Given the description of an element on the screen output the (x, y) to click on. 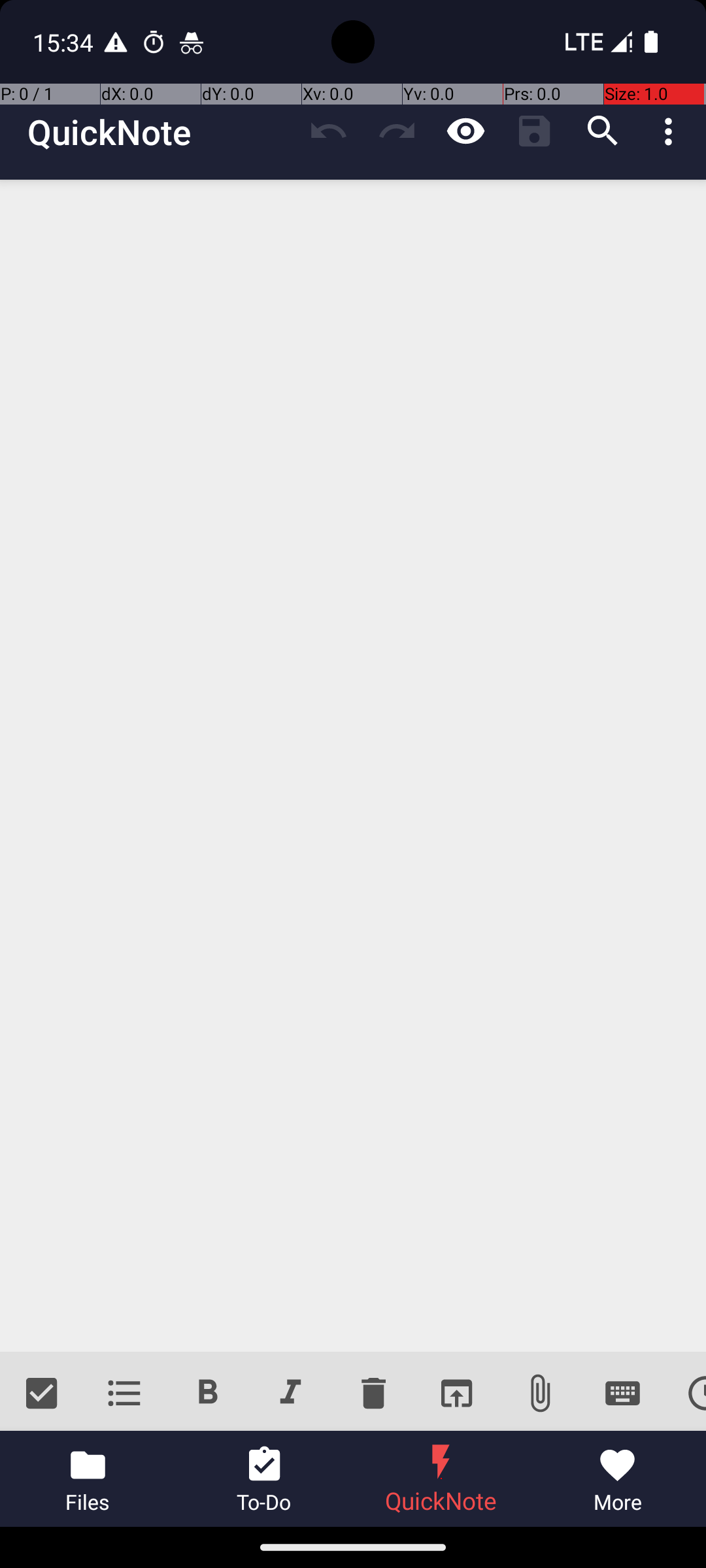
Chrome notification: Incognito Tabs Element type: android.widget.ImageView (191, 41)
